Given the description of an element on the screen output the (x, y) to click on. 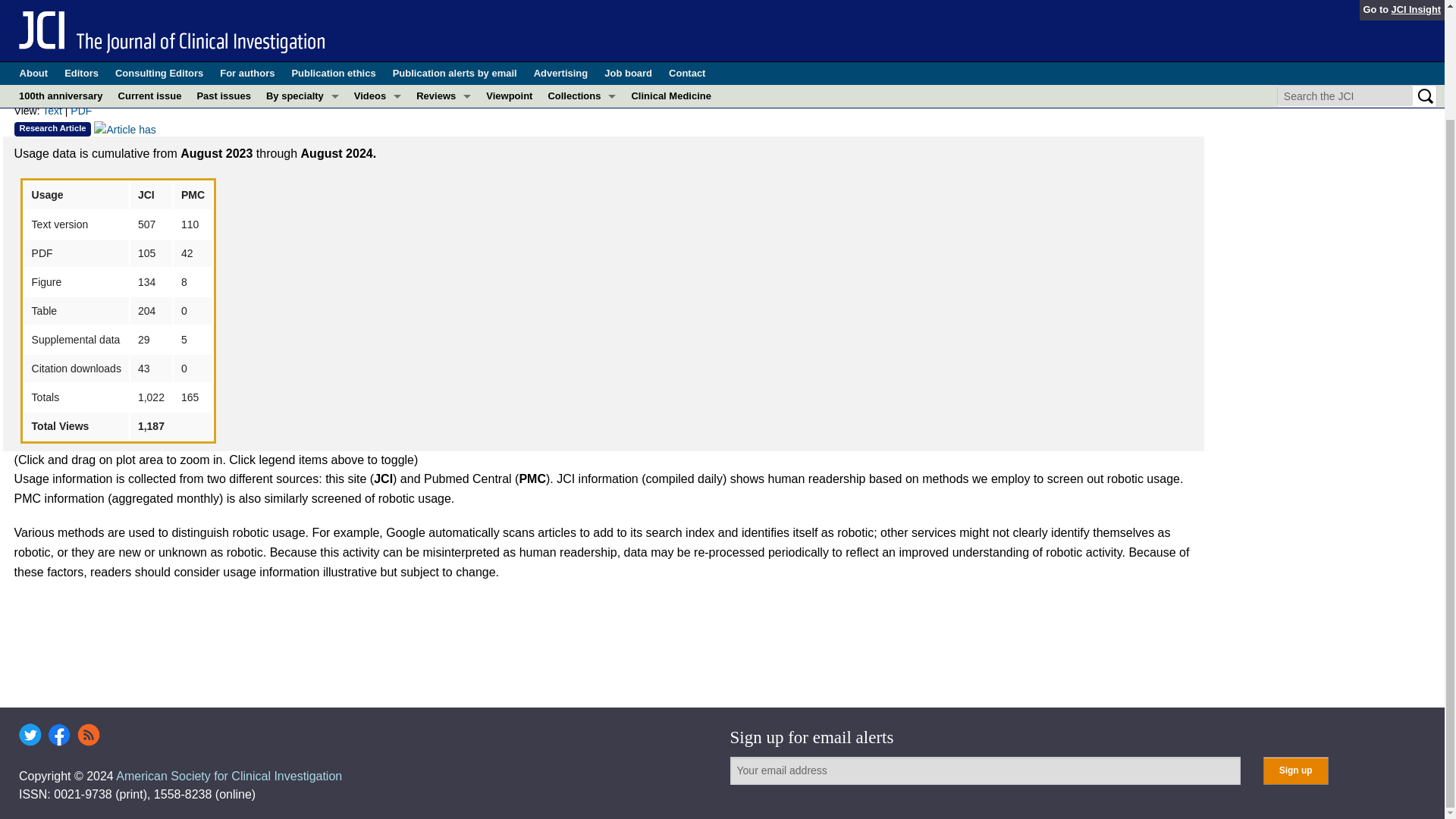
Immunology (302, 57)
Cardiology (302, 12)
Twitter (30, 734)
Gastroenterology (302, 35)
Conversations with Giants in Medicine (377, 0)
Oncology (302, 149)
Metabolism (302, 80)
Nephrology (302, 103)
Pulmonology (302, 171)
COVID-19 (302, 0)
